Given the description of an element on the screen output the (x, y) to click on. 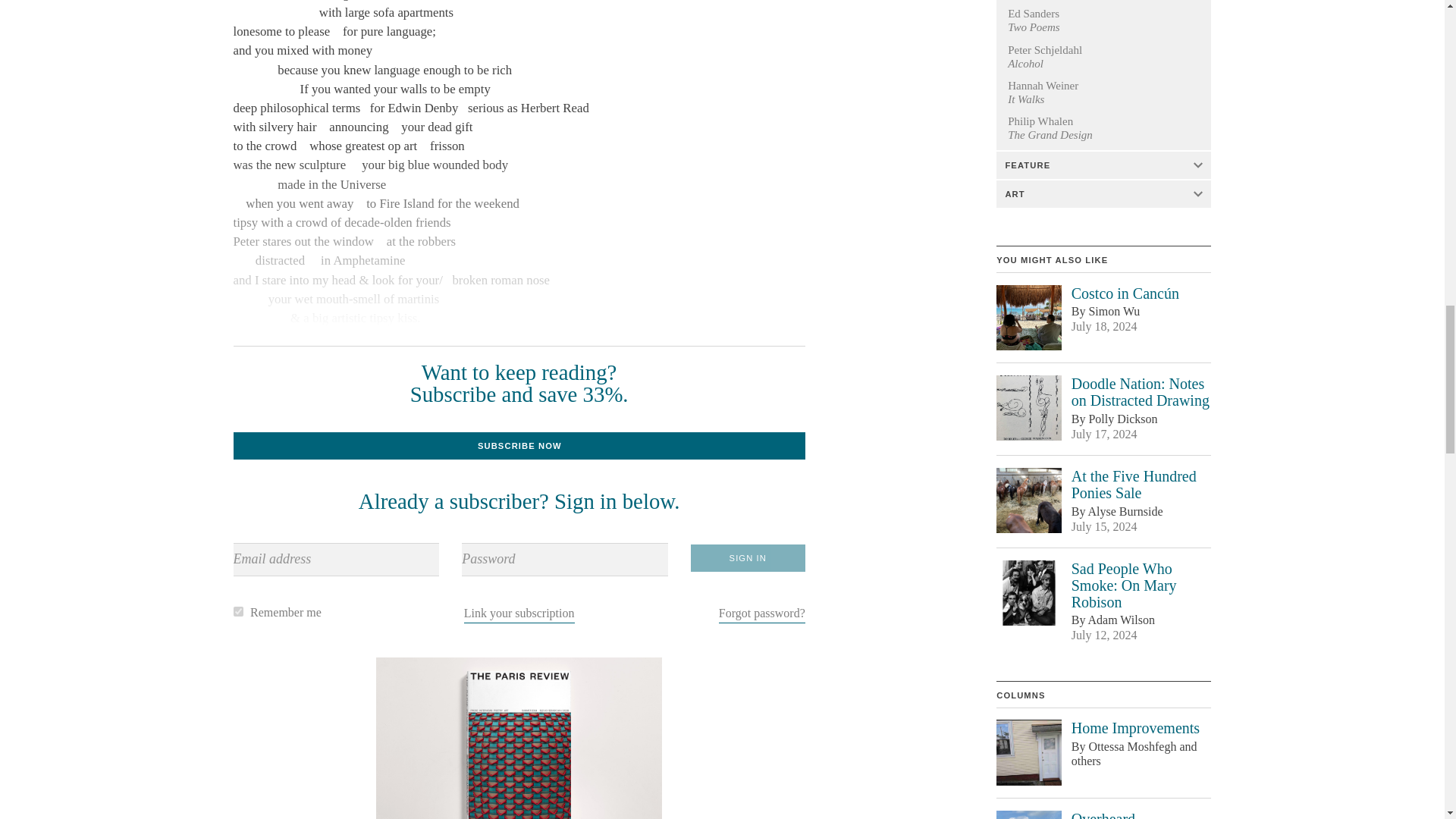
remember (237, 611)
Sign In (747, 557)
